Given the description of an element on the screen output the (x, y) to click on. 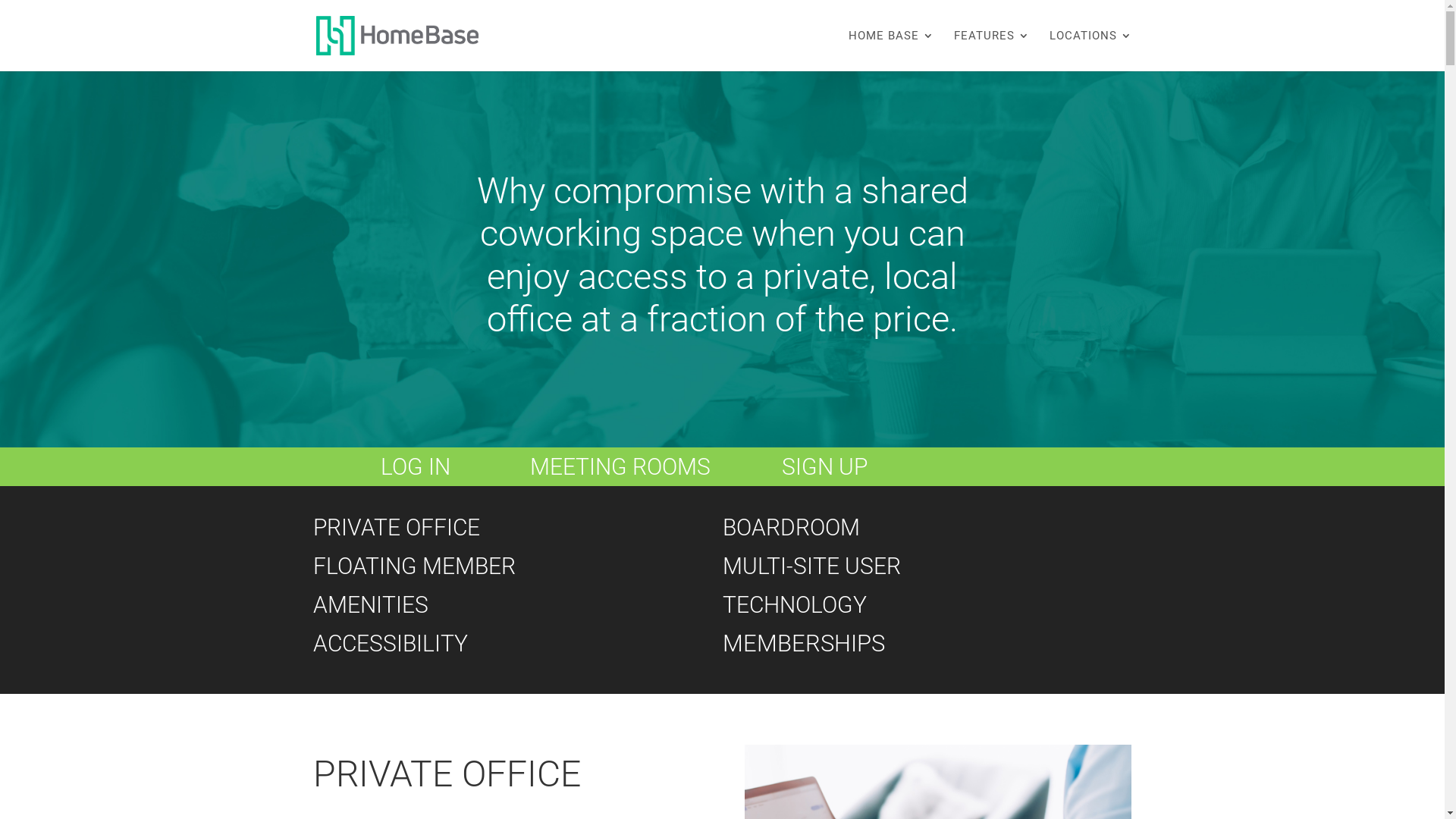
FLOATING MEMBER Element type: text (413, 565)
SIGN UP Element type: text (824, 466)
PRIVATE OFFICE Element type: text (395, 527)
BOARDROOM Element type: text (790, 527)
ACCESSIBILITY Element type: text (389, 643)
LOG IN Element type: text (415, 466)
MEETING ROOMS Element type: text (619, 466)
LOCATIONS Element type: text (1090, 50)
MEMBERSHIPS Element type: text (802, 644)
MULTI-SITE USER Element type: text (810, 565)
FEATURES Element type: text (991, 50)
AMENITIES Element type: text (369, 604)
HOME BASE Element type: text (890, 50)
TECHNOLOGY Element type: text (793, 604)
